Given the description of an element on the screen output the (x, y) to click on. 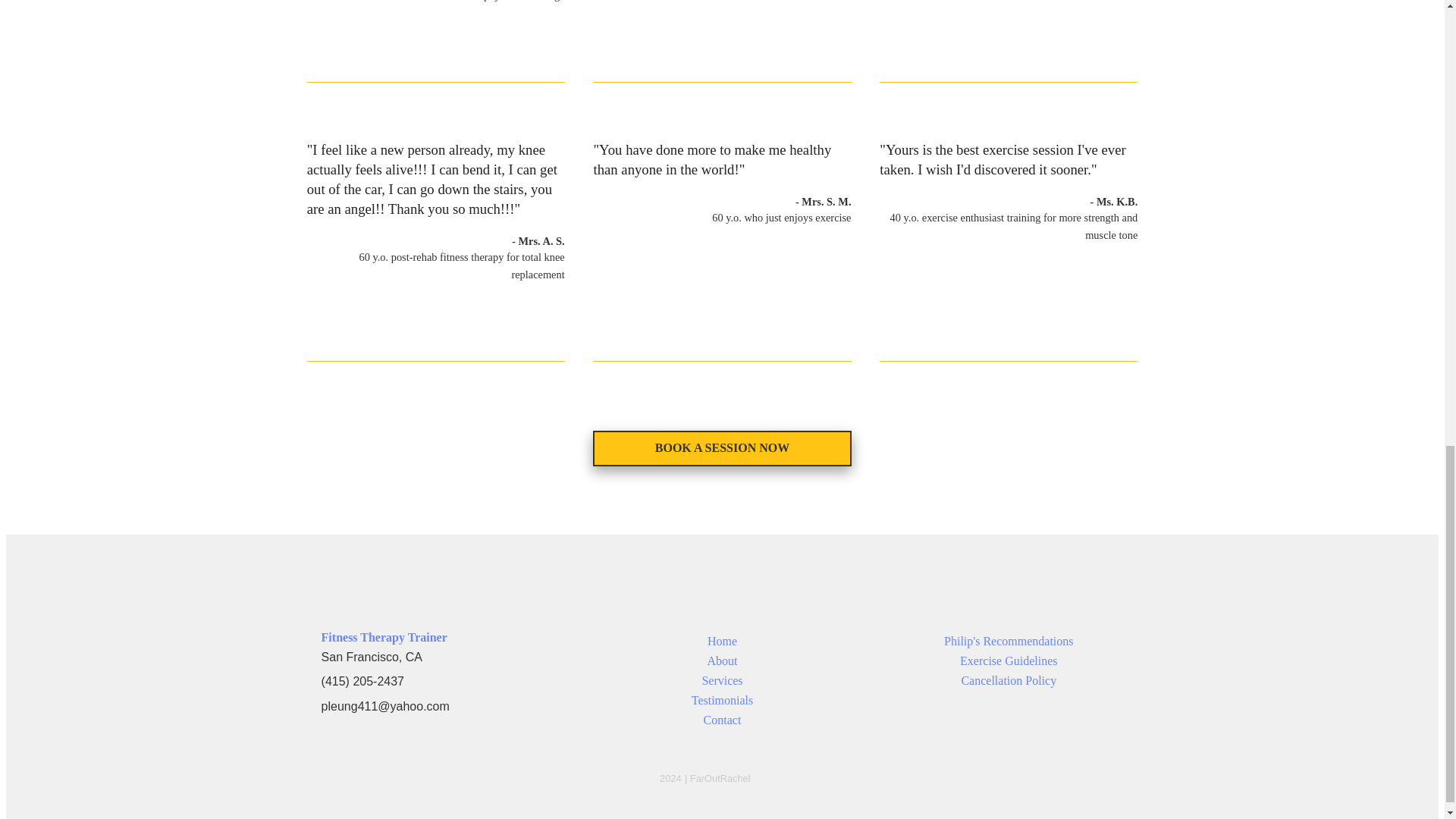
Exercise Guidelines (1008, 661)
Testimonials (722, 700)
About (721, 661)
Cancellation Policy (1008, 680)
BOOK A SESSION NOW (721, 448)
Services (721, 680)
Home (721, 641)
Contact (722, 720)
Philip's Recommendations (1008, 641)
